Given the description of an element on the screen output the (x, y) to click on. 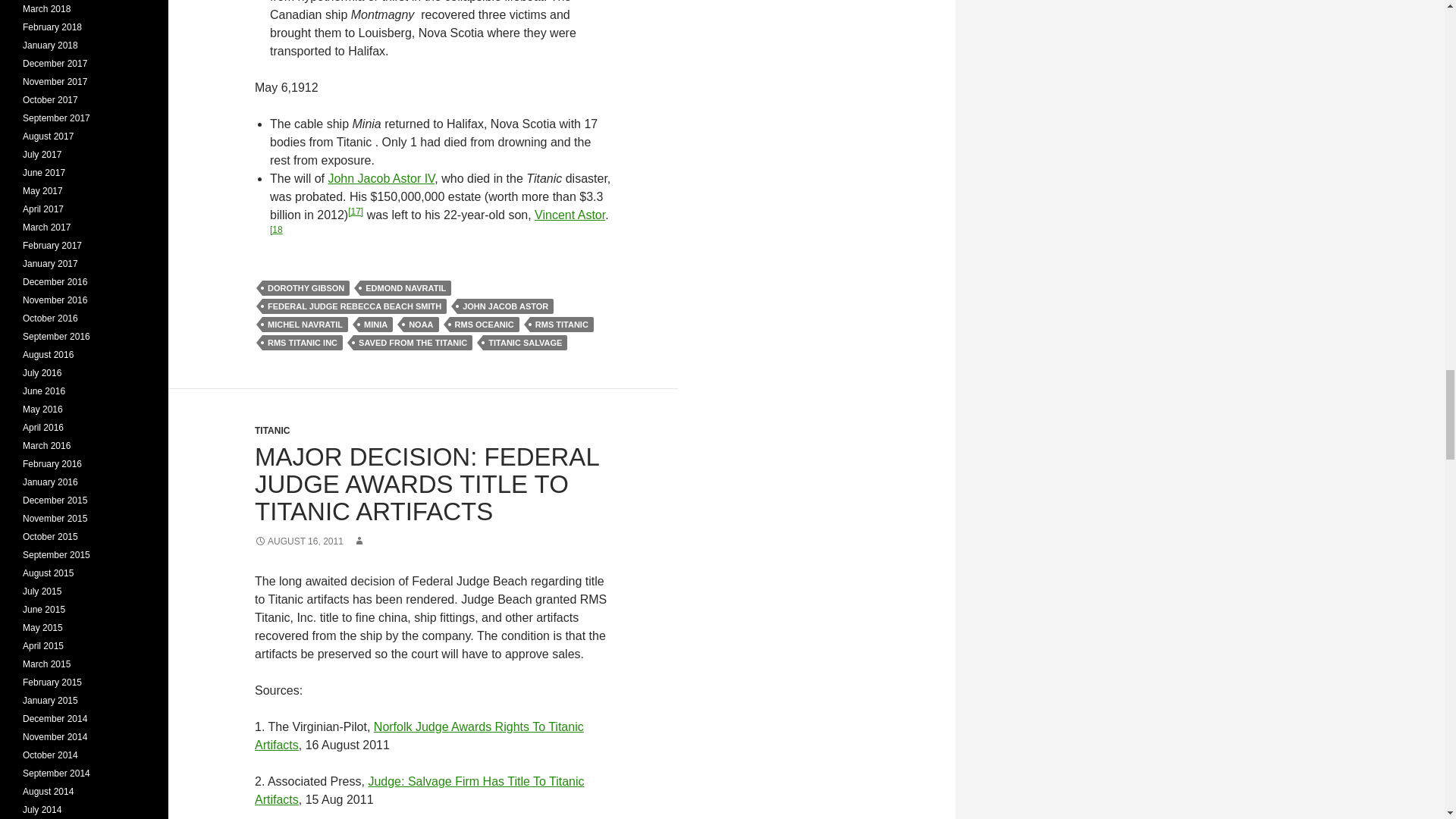
John Jacob Astor IV (380, 178)
Vincent Astor (569, 214)
John Jacob Astor IV (380, 178)
Vincent Astor (569, 214)
